Given the description of an element on the screen output the (x, y) to click on. 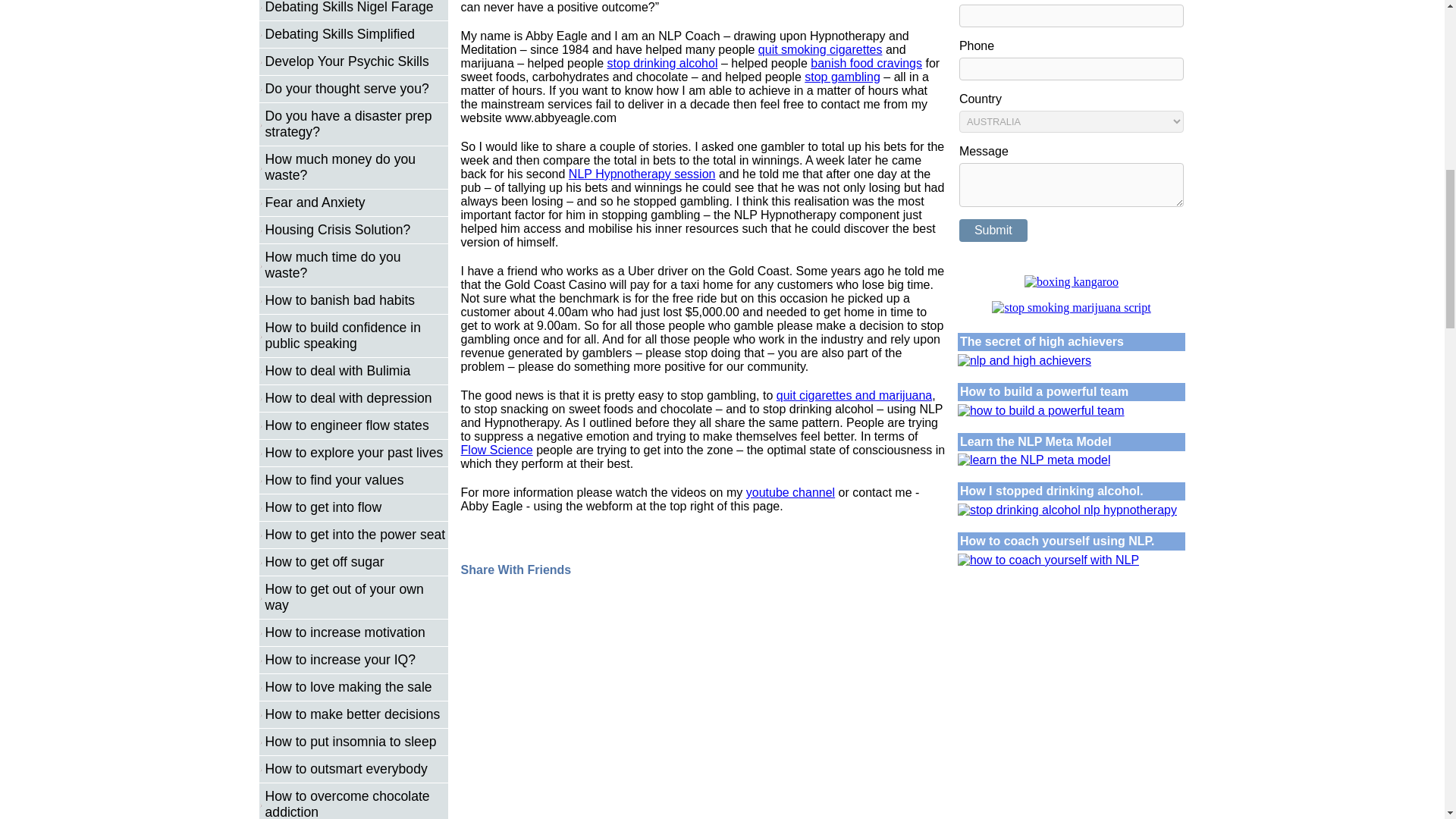
Fear and Anxiety (355, 202)
How much money do you waste? (355, 167)
Develop Your Psychic Skills (355, 61)
Debating Skills Nigel Farage (355, 8)
Submit (993, 230)
Do you have a disaster prep strategy? (355, 124)
Do your thought serve you? (355, 88)
Housing Crisis Solution? (355, 230)
How much time do you waste? (355, 265)
Debating Skills Simplified (355, 34)
